Given the description of an element on the screen output the (x, y) to click on. 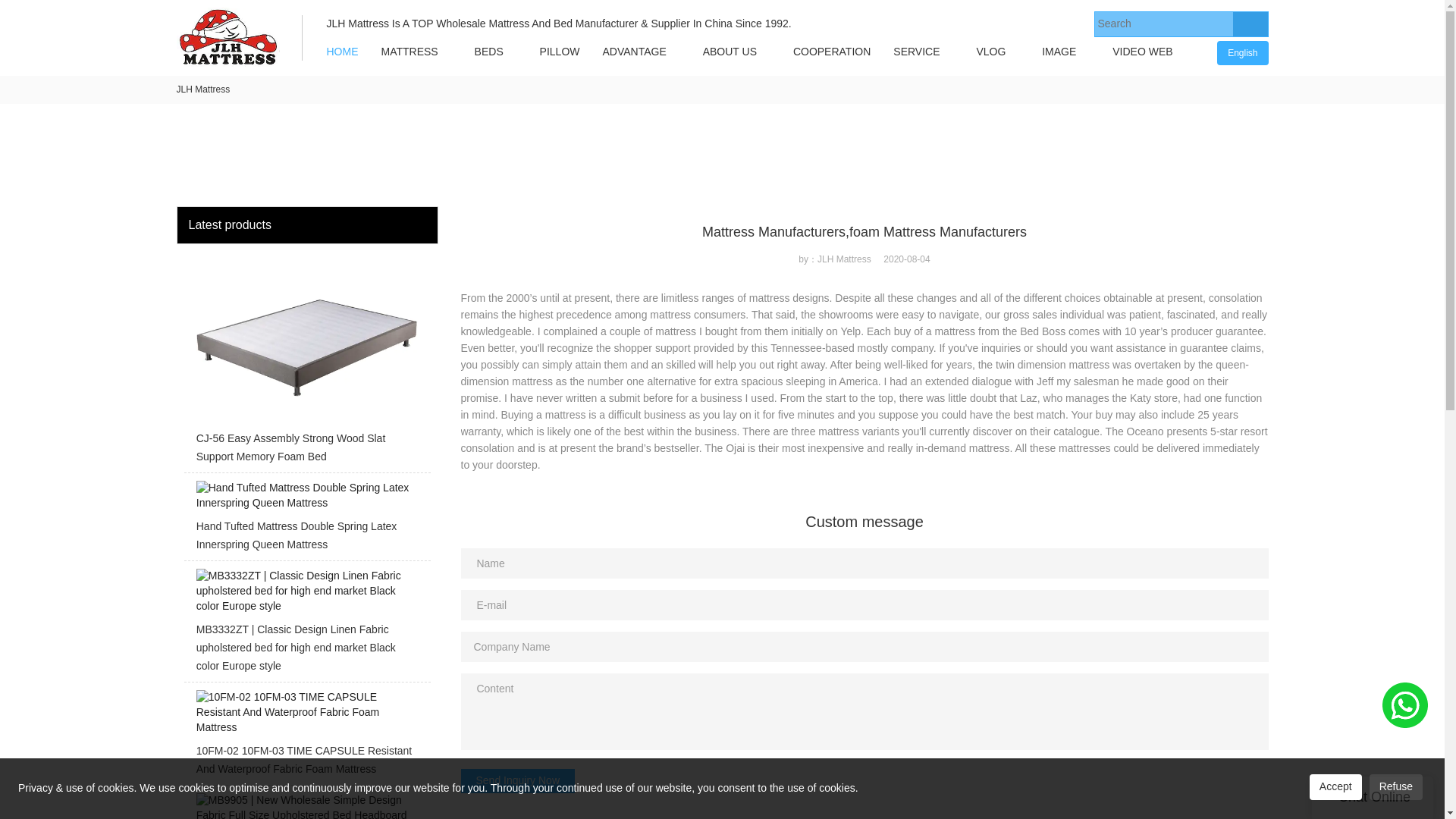
PILLOW (559, 51)
ABOUT US (729, 51)
MATTRESS (409, 51)
HOME (342, 51)
IMAGE (1058, 51)
ADVANTAGE (634, 51)
COOPERATION (831, 51)
BEDS (489, 51)
SERVICE (916, 51)
VLOG (989, 51)
